Given the description of an element on the screen output the (x, y) to click on. 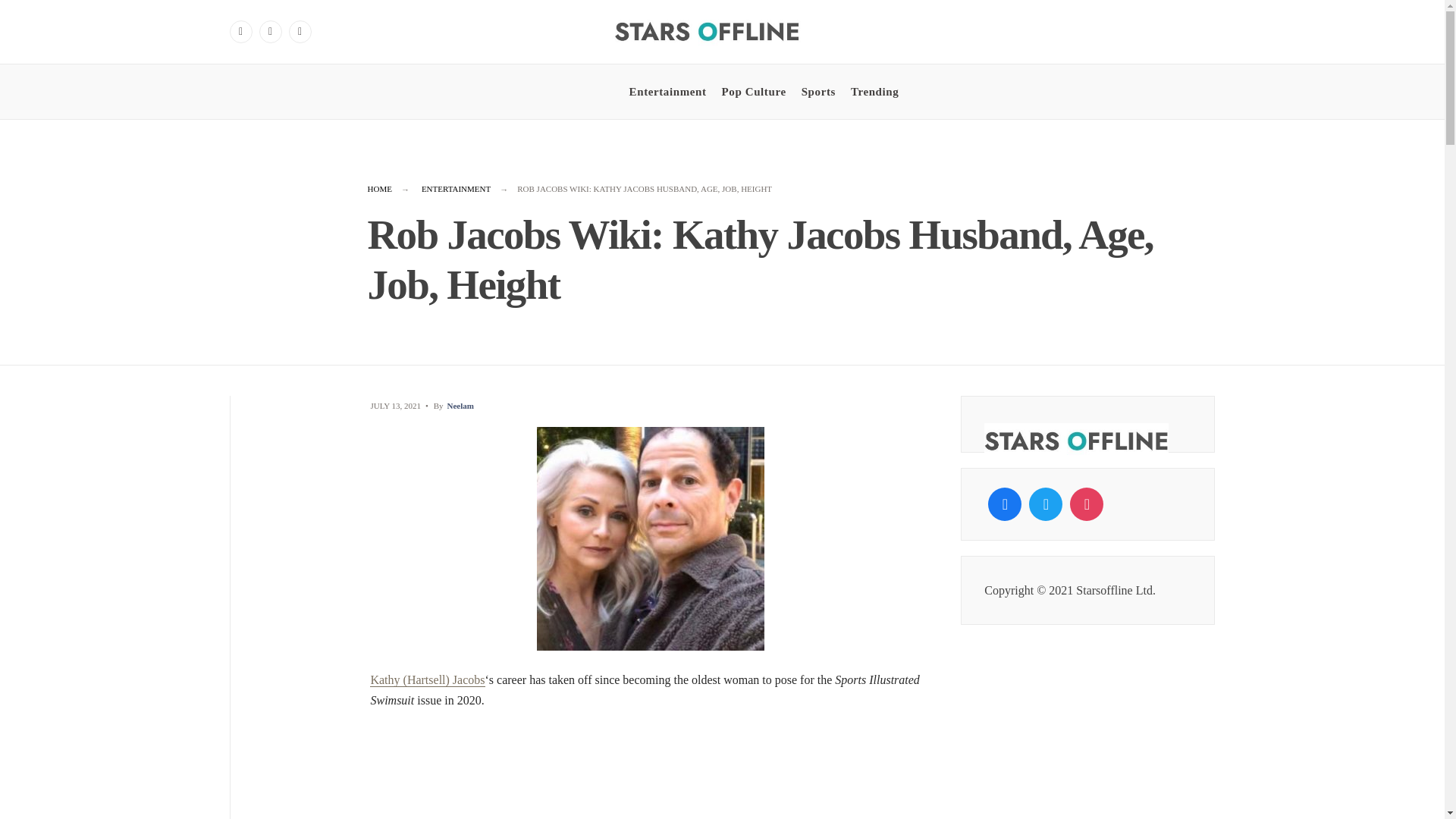
Trending (874, 91)
Neelam (460, 405)
Advertisement (650, 774)
Sports (818, 91)
Posts by Neelam (460, 405)
Pop Culture (754, 91)
Entertainment (667, 91)
Pinterest (299, 31)
HOME (378, 188)
ENTERTAINMENT (456, 188)
